Given the description of an element on the screen output the (x, y) to click on. 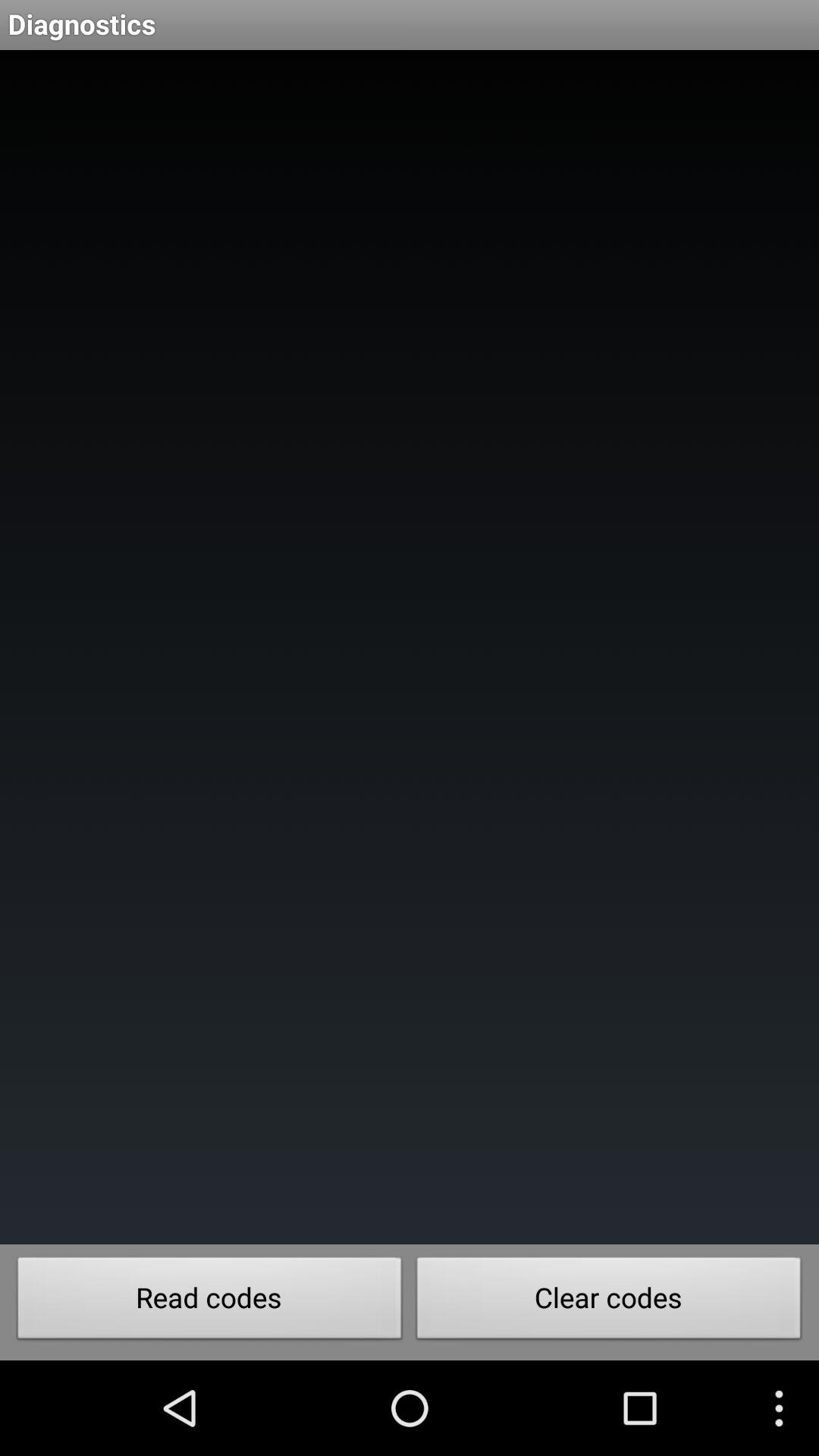
choose the read codes icon (209, 1302)
